Given the description of an element on the screen output the (x, y) to click on. 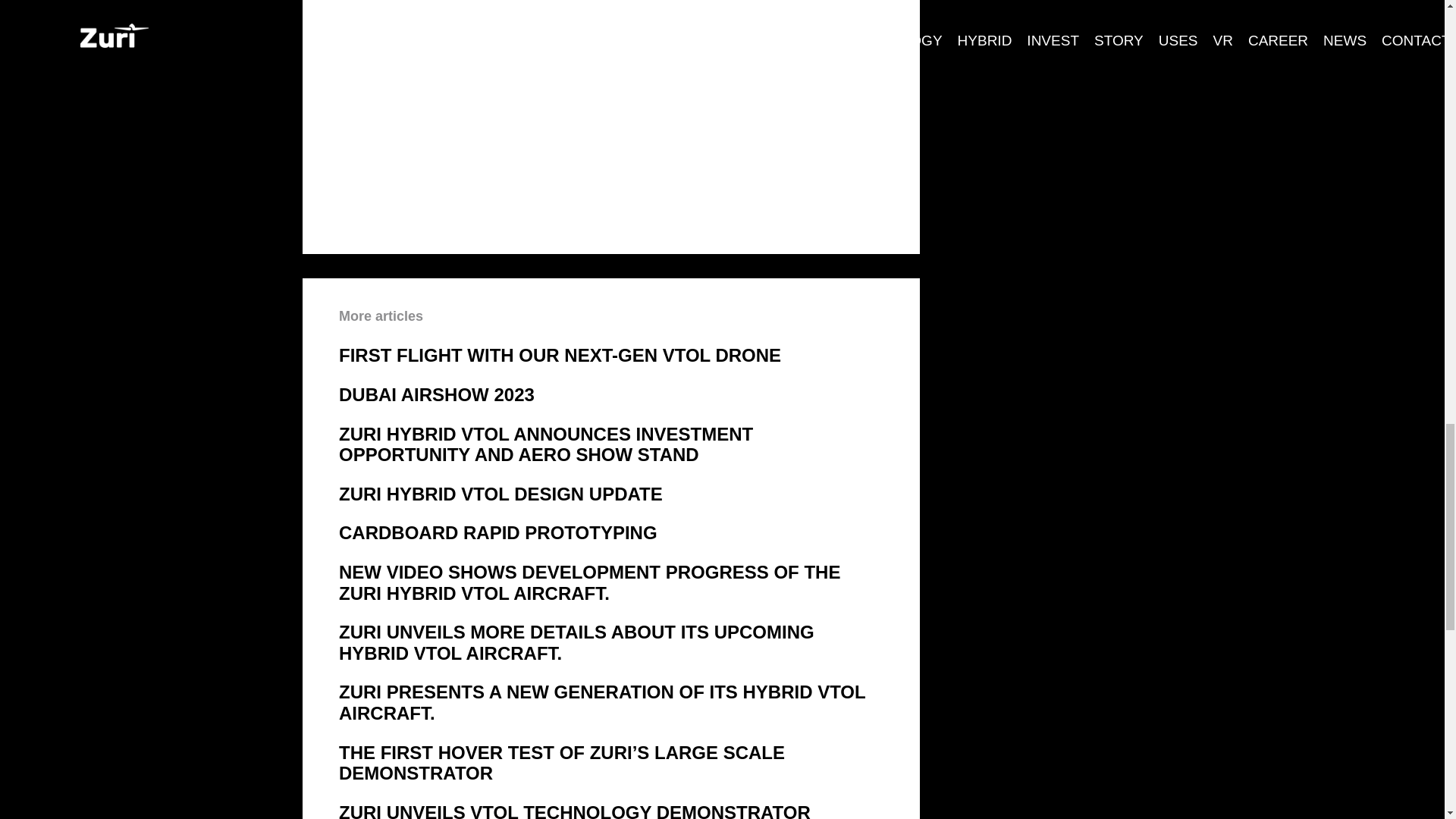
DUBAI AIRSHOW 2023 (611, 394)
ZURI UNVEILS VTOL TECHNOLOGY DEMONSTRATOR (611, 810)
FIRST FLIGHT WITH OUR NEXT-GEN VTOL DRONE (611, 355)
ZURI PRESENTS A NEW GENERATION OF ITS HYBRID VTOL AIRCRAFT. (611, 702)
CARDBOARD RAPID PROTOTYPING (611, 532)
ZURI HYBRID VTOL DESIGN UPDATE (611, 494)
